Given the description of an element on the screen output the (x, y) to click on. 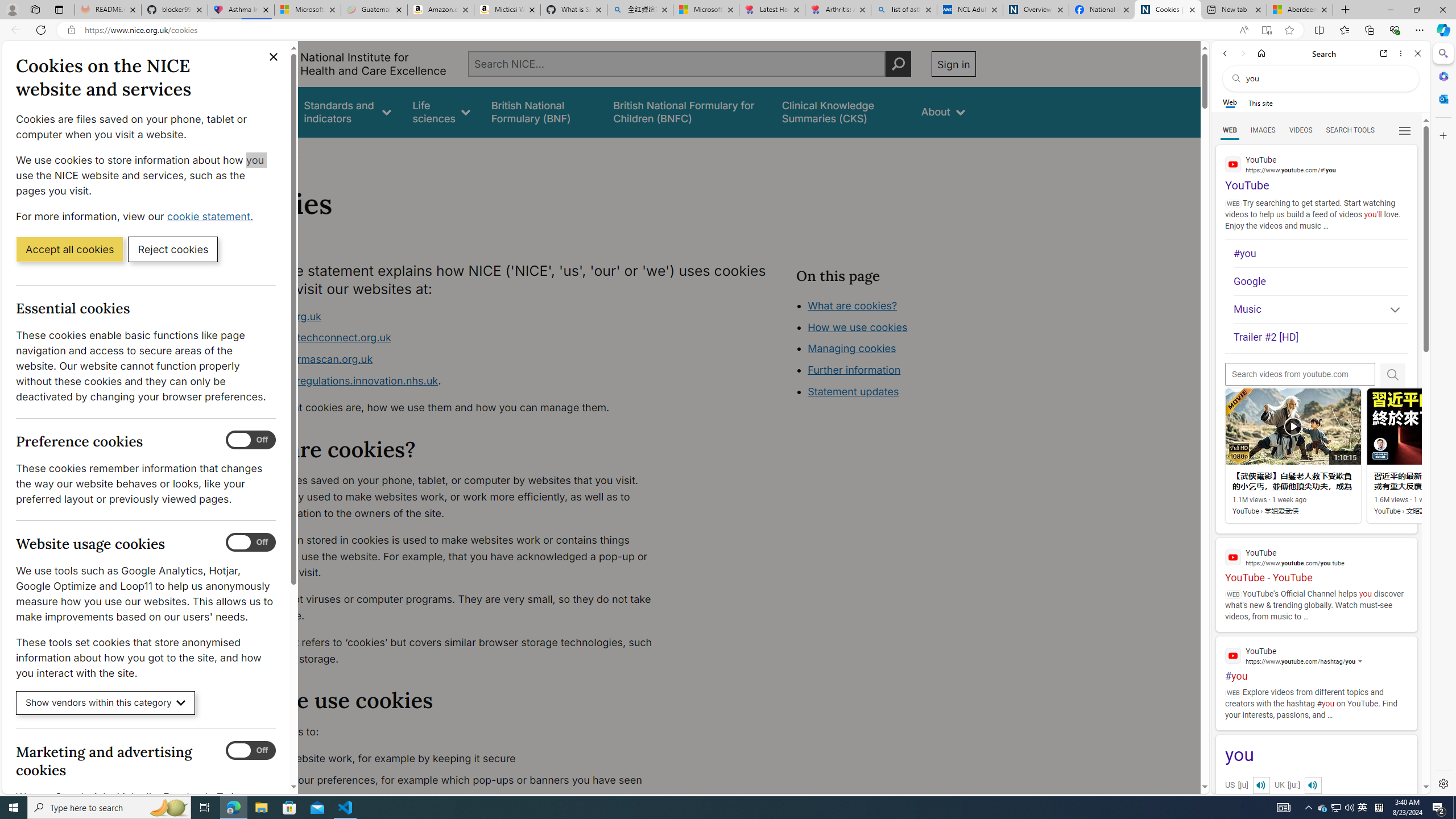
#you (1315, 659)
Reject cookies (173, 248)
More options (1401, 53)
NCL Adult Asthma Inhaler Choice Guideline (969, 9)
Search Filter, WEB (1230, 129)
What are cookies? (852, 305)
This site scope (1259, 102)
Enter Immersive Reader (F9) (1266, 29)
Perform search (898, 63)
About (283, 152)
